Given the description of an element on the screen output the (x, y) to click on. 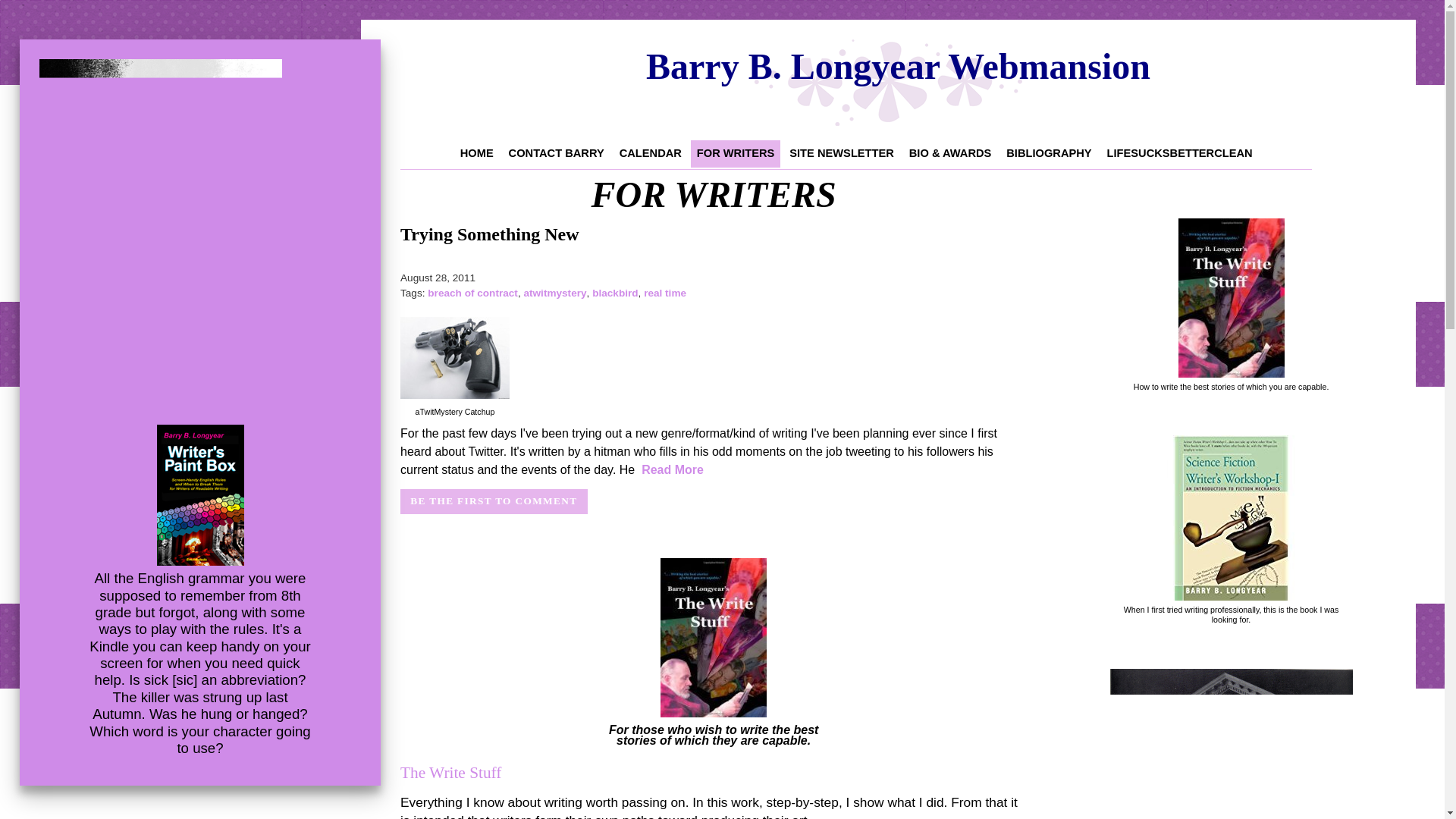
CONTACT BARRY (556, 152)
BIBLIOGRAPHY (1048, 152)
atwitmystery (554, 292)
CALENDAR (649, 152)
How to write the best stories of which you are capable. (1231, 386)
FOR WRITERS (735, 152)
real time (664, 292)
HOME (476, 152)
